Given the description of an element on the screen output the (x, y) to click on. 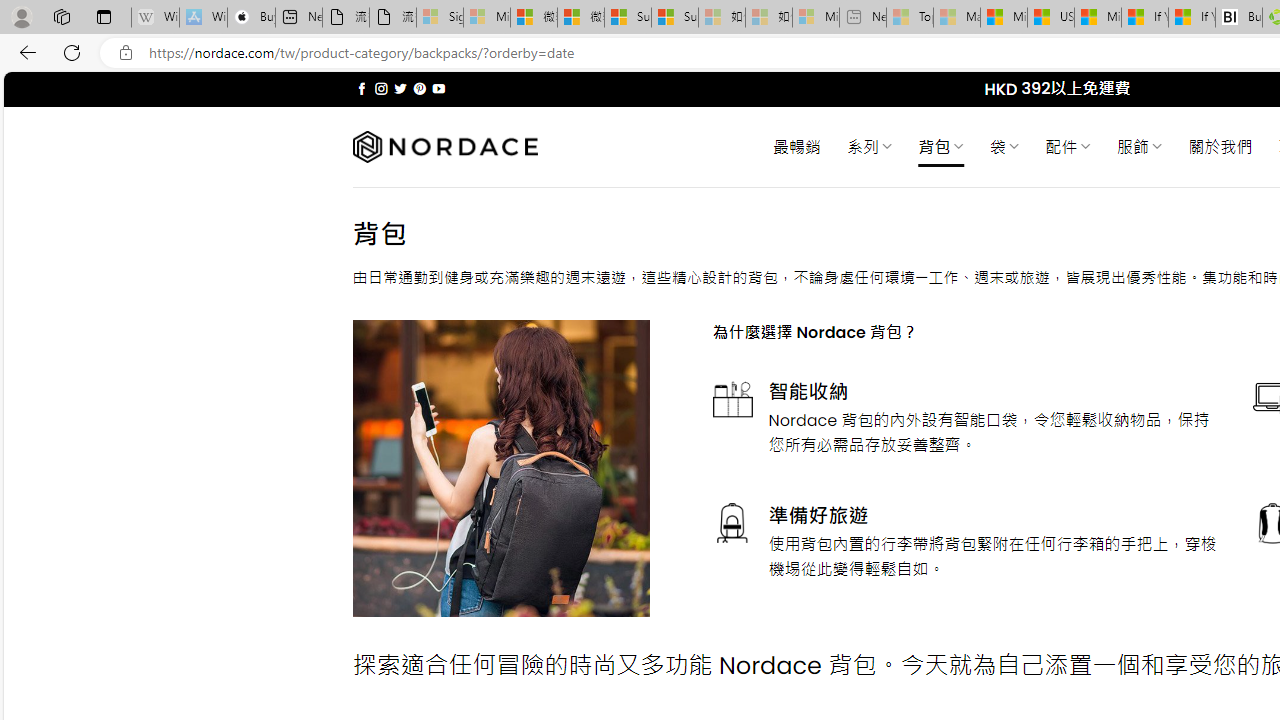
Follow on Twitter (400, 88)
Marine life - MSN - Sleeping (957, 17)
Follow on Facebook (361, 88)
